Given the description of an element on the screen output the (x, y) to click on. 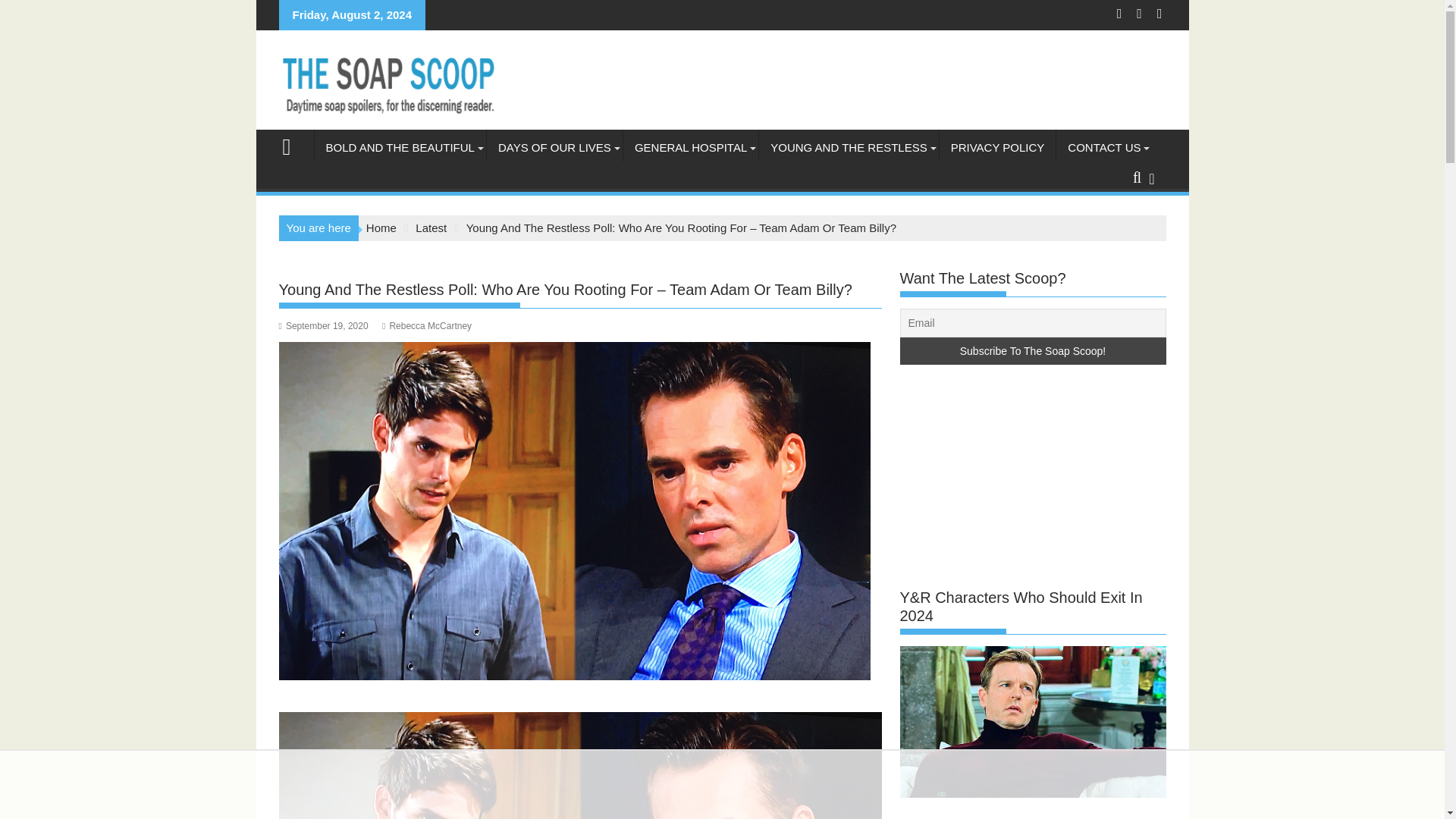
GENERAL HOSPITAL (690, 147)
YOUNG AND THE RESTLESS (847, 147)
CONTACT US (1104, 147)
The Soap Scoop (293, 145)
PRIVACY POLICY (998, 147)
Subscribe To The Soap Scoop! (1032, 350)
BOLD AND THE BEAUTIFUL (399, 147)
DAYS OF OUR LIVES (554, 147)
